Given the description of an element on the screen output the (x, y) to click on. 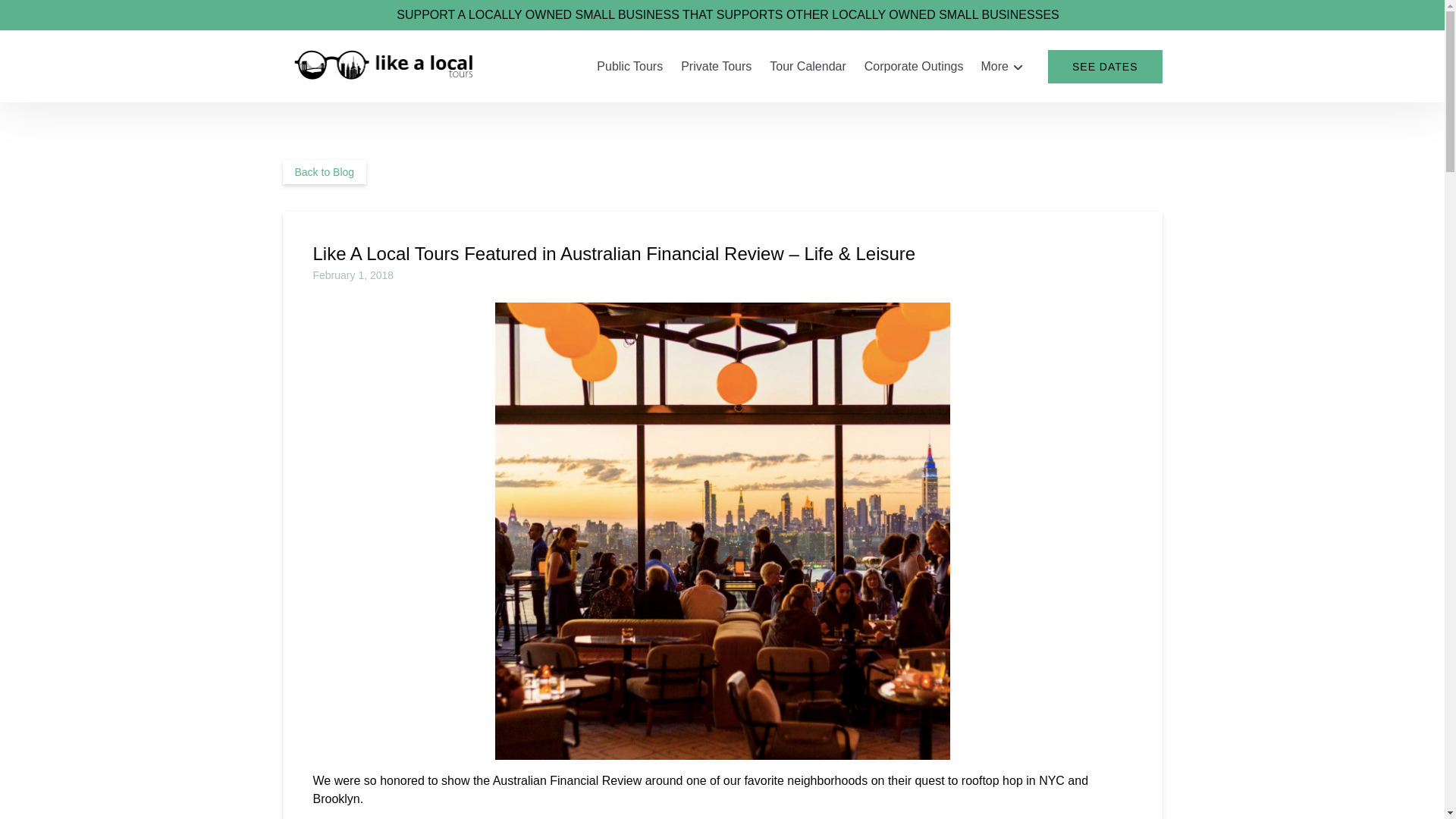
SEE DATES (1104, 66)
Corporate Outings (914, 66)
Back to Blog (324, 171)
Tour Calendar (808, 66)
More (1002, 66)
Skip to primary navigation (77, 16)
Private Tours (715, 66)
Public Tours (629, 66)
Open More Menu (1005, 62)
Skip to footer (42, 16)
Skip to content (47, 16)
return to Blog (324, 171)
